Given the description of an element on the screen output the (x, y) to click on. 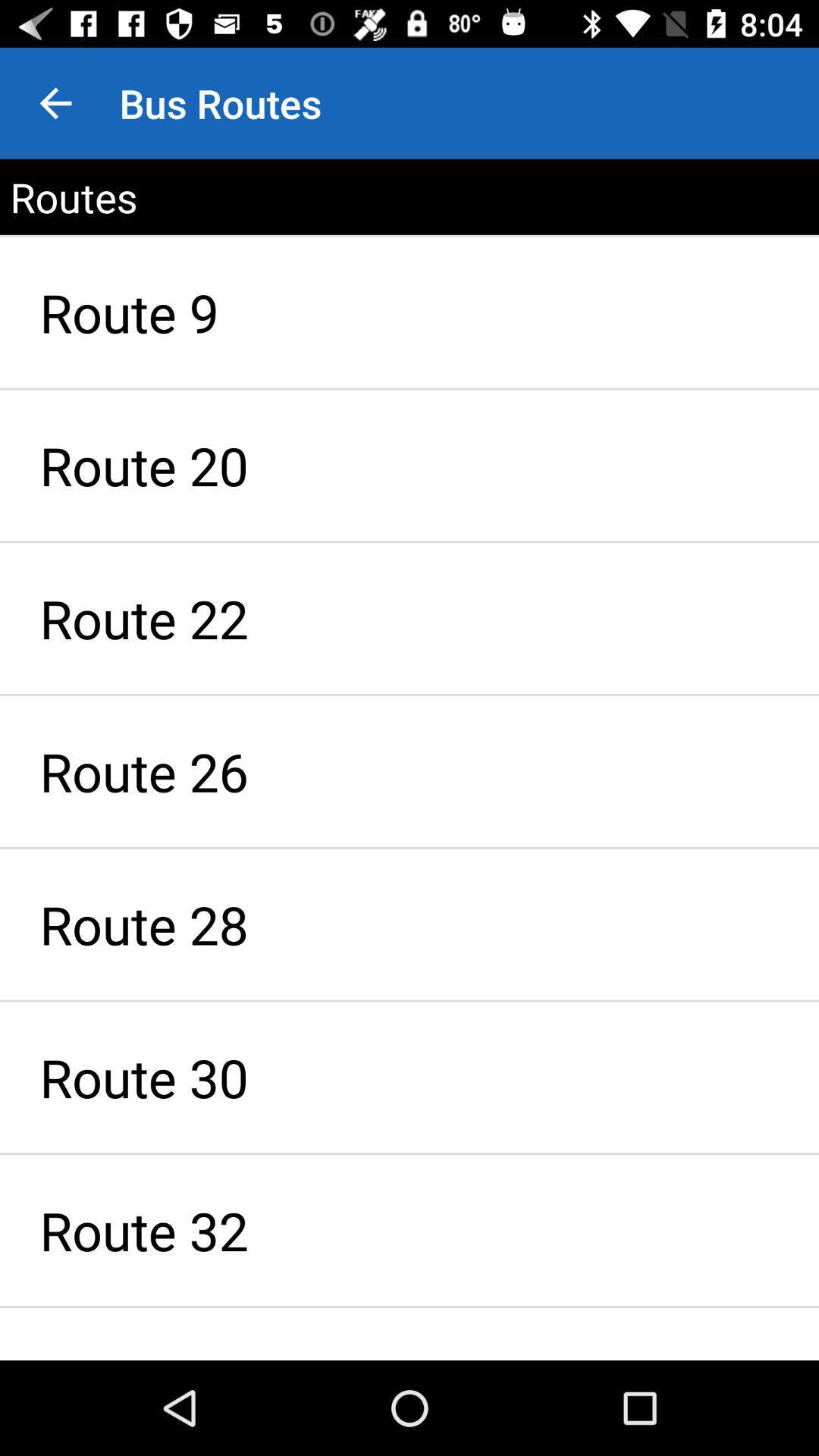
open item below the route 26 icon (409, 924)
